Given the description of an element on the screen output the (x, y) to click on. 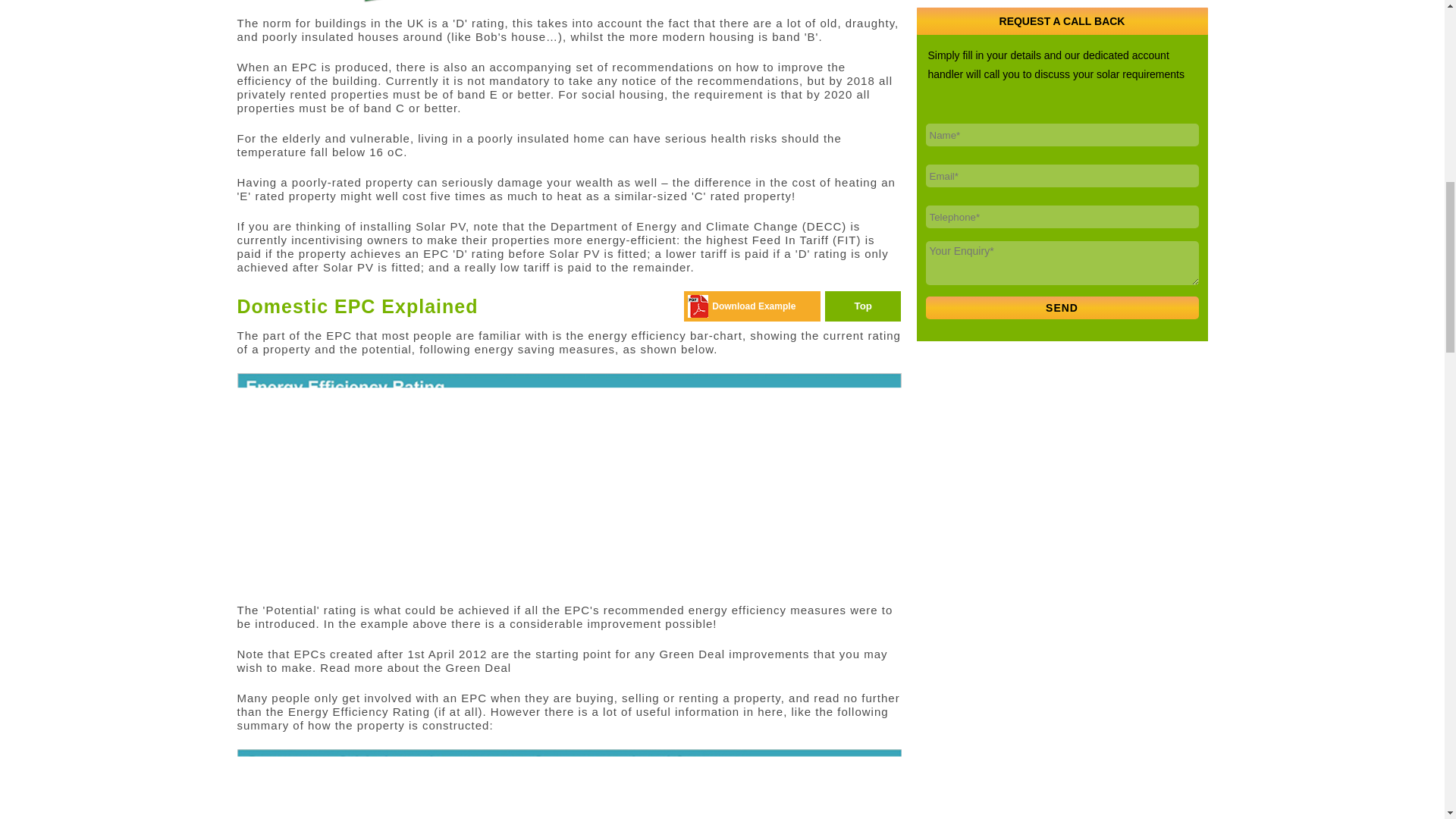
Top (863, 306)
Download Example (752, 306)
